Given the description of an element on the screen output the (x, y) to click on. 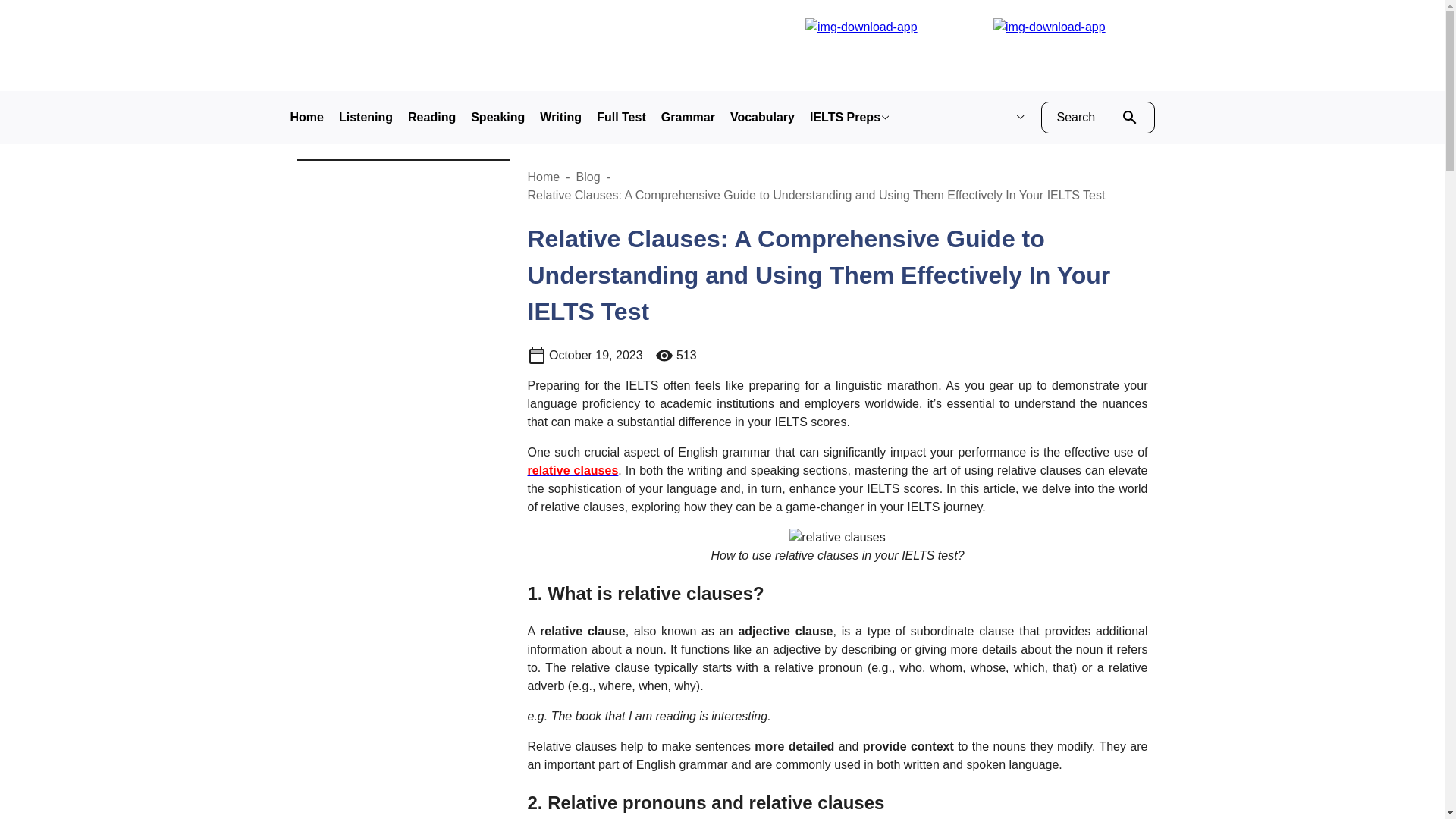
Grammar (687, 117)
Home (306, 117)
Full Test (621, 117)
Blog (587, 176)
IELTS Preps (849, 117)
Reading (431, 117)
Vocabulary (762, 117)
Home (543, 176)
relative clauses (572, 470)
Writing (560, 117)
Listening (366, 117)
Speaking (497, 117)
